Given the description of an element on the screen output the (x, y) to click on. 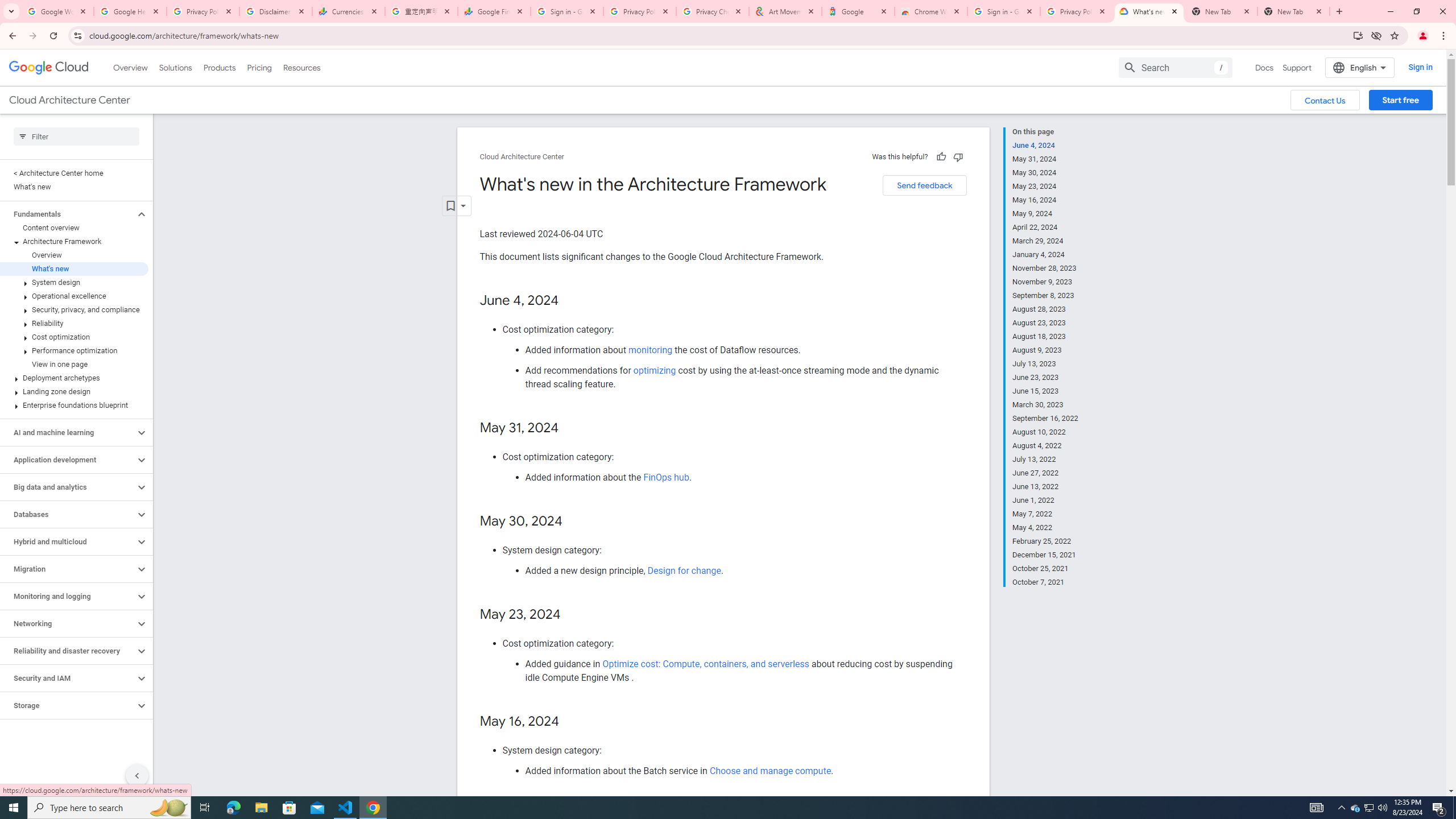
Cloud Architecture Center (521, 156)
June 27, 2022 (1044, 472)
Docs, selected (1264, 67)
June 15, 2023 (1044, 391)
Copy link to this section: May 30, 2024 (573, 521)
November 28, 2023 (1044, 268)
November 9, 2023 (1044, 282)
October 25, 2021 (1044, 568)
August 23, 2023 (1044, 323)
Pricing (259, 67)
Currencies - Google Finance (348, 11)
August 4, 2022 (1044, 445)
May 4, 2022 (1044, 527)
System design (74, 282)
Copy link to this section: May 31, 2024 (570, 428)
